Given the description of an element on the screen output the (x, y) to click on. 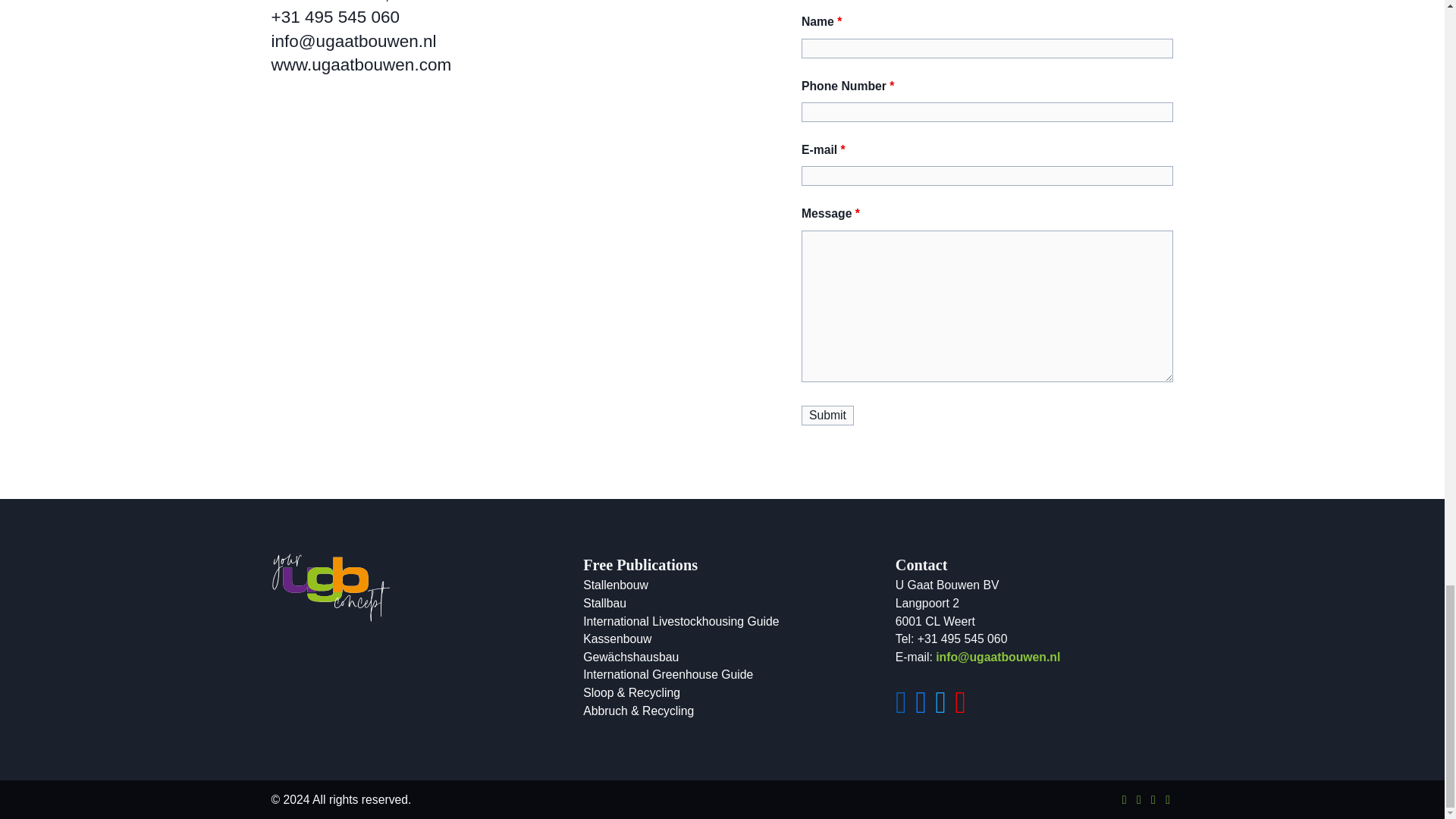
International Livestockhousing Guide (680, 621)
Kassenbouw (616, 638)
Submit (827, 415)
Submit (827, 415)
Stallenbouw (615, 584)
International Greenhouse Guide (667, 674)
Stallbau (604, 603)
